Given the description of an element on the screen output the (x, y) to click on. 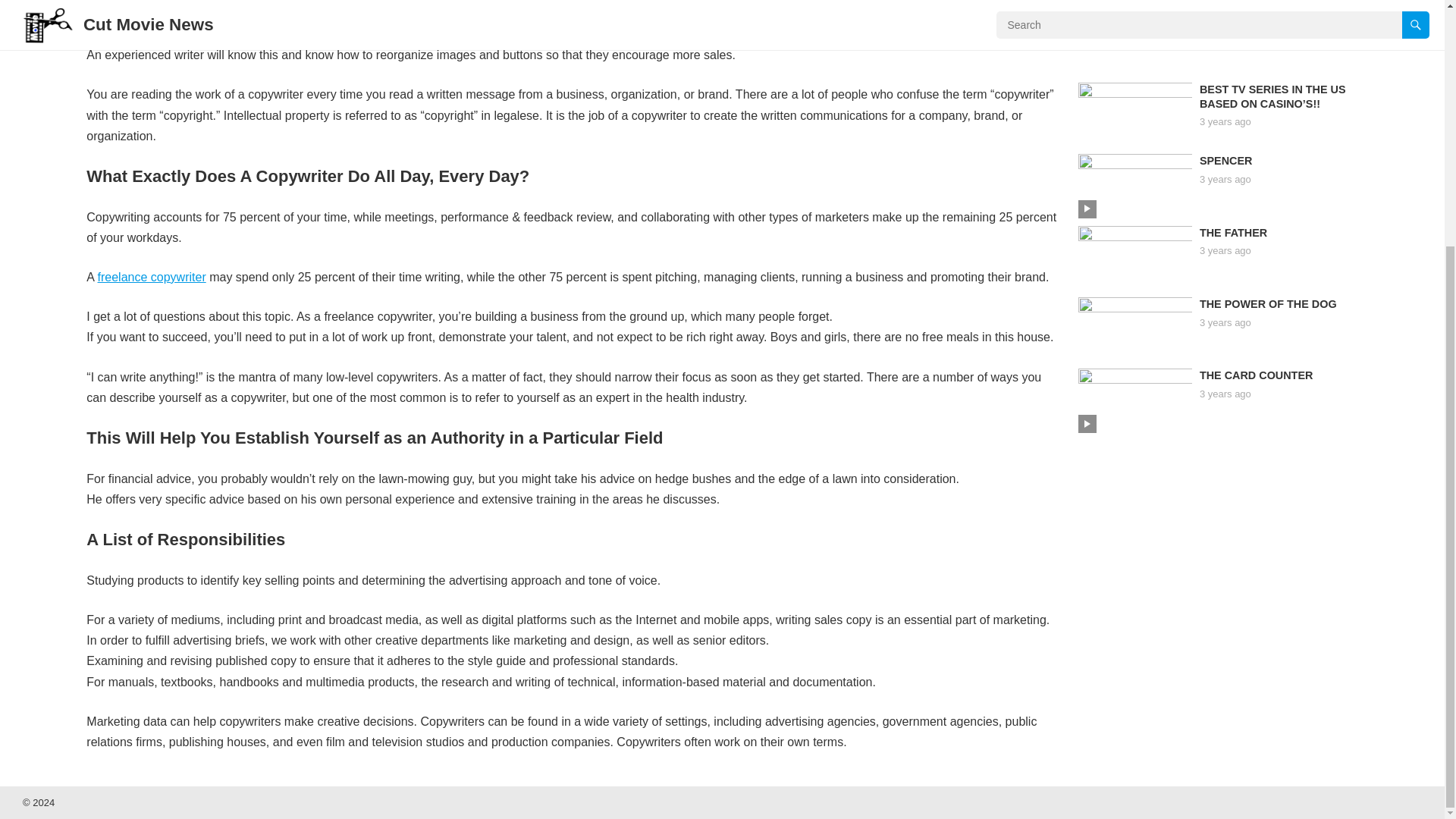
VIOLENCE IN THE HOME (1264, 17)
THE FATHER (1232, 232)
SPENCER (1225, 160)
freelance copywriter (151, 277)
THE POWER OF THE DOG (1267, 304)
THE CARD COUNTER (1256, 375)
